Given the description of an element on the screen output the (x, y) to click on. 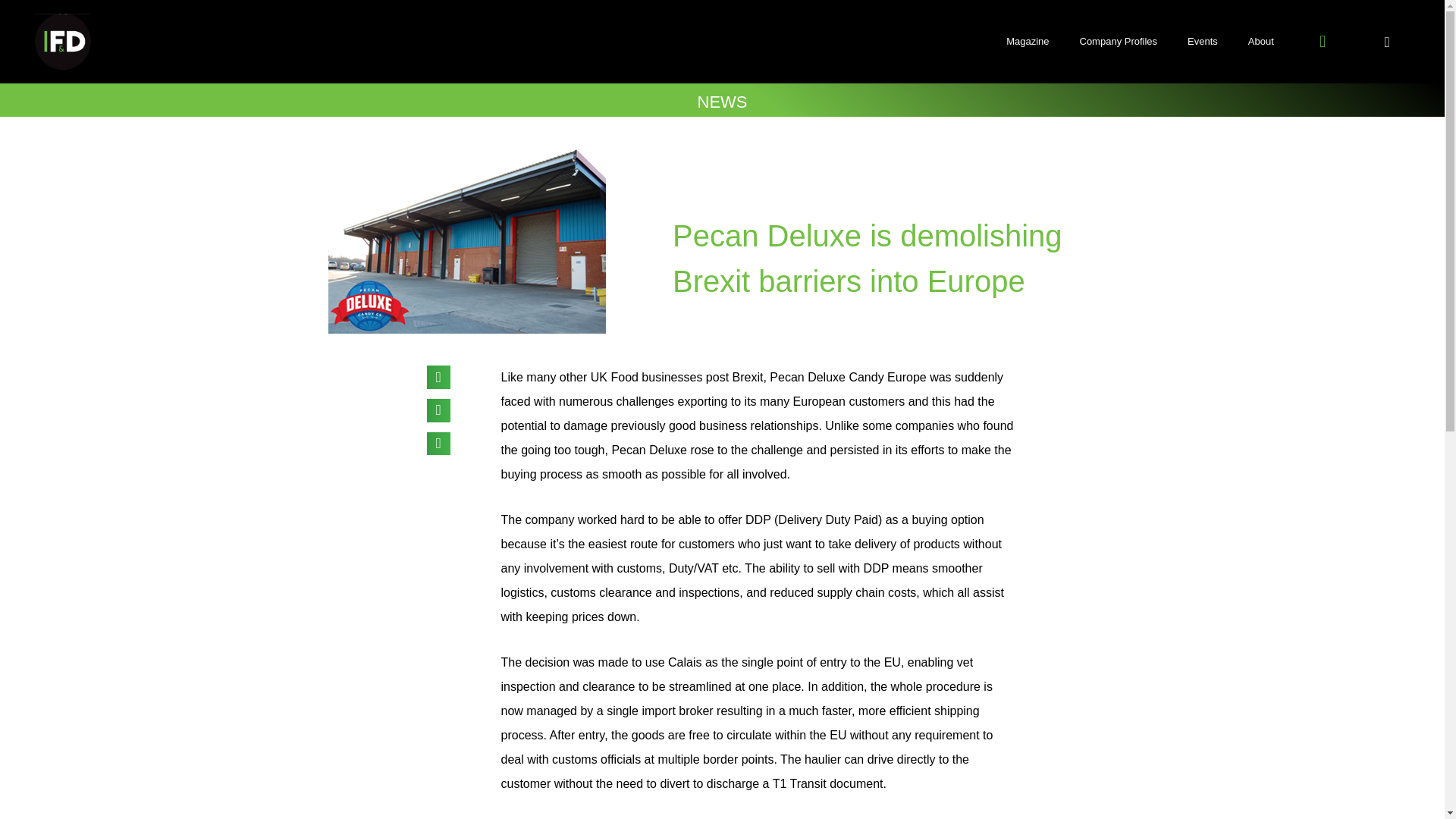
FD (62, 41)
Magazine (1027, 41)
Company Profiles (1118, 41)
Events (1202, 41)
About (1260, 41)
